Given the description of an element on the screen output the (x, y) to click on. 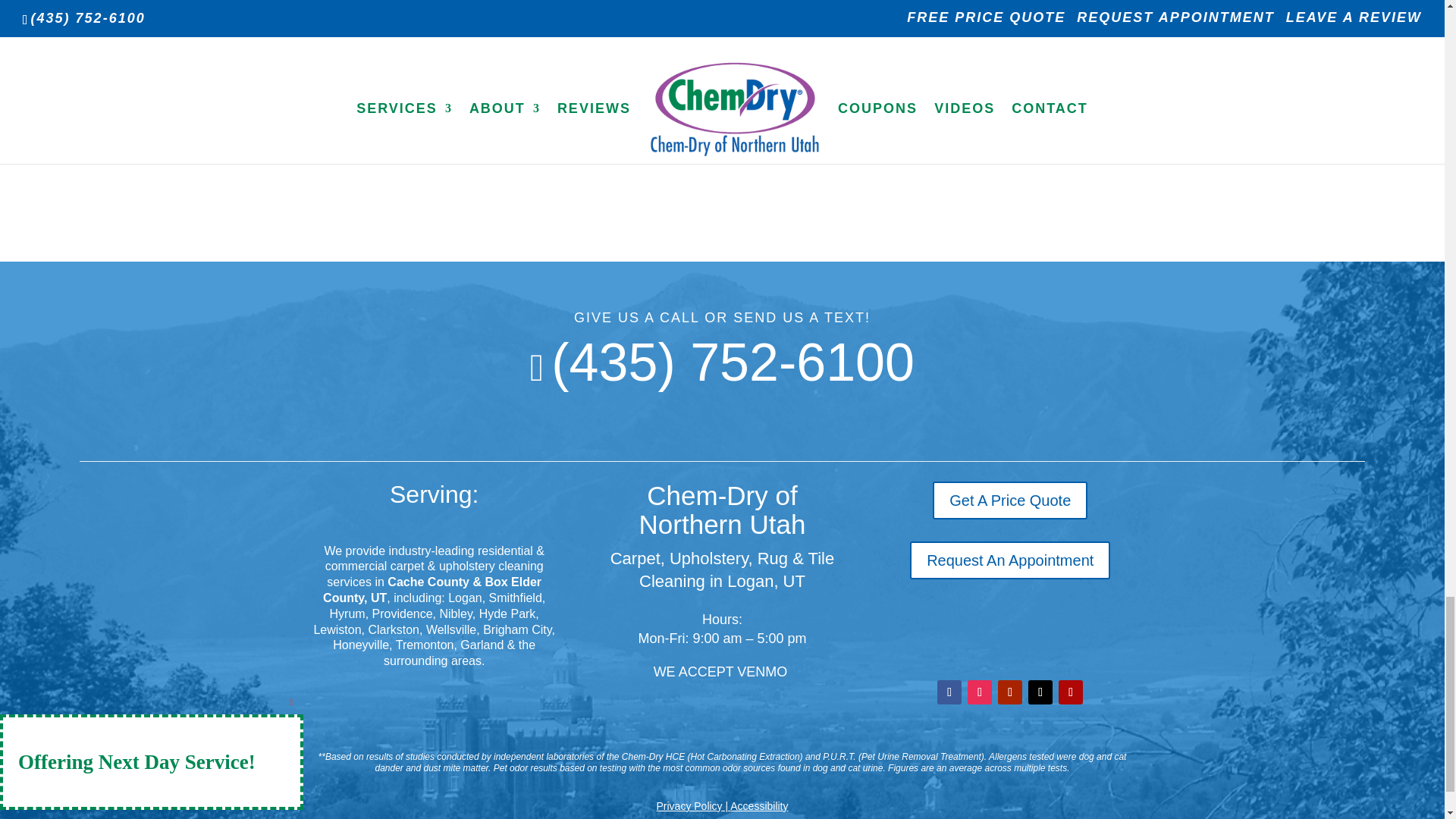
Follow on Youtube (1009, 692)
Follow on Yelp (1070, 692)
Follow on Instagram (979, 692)
Follow on Facebook (948, 692)
Follow on X (1039, 692)
